Given the description of an element on the screen output the (x, y) to click on. 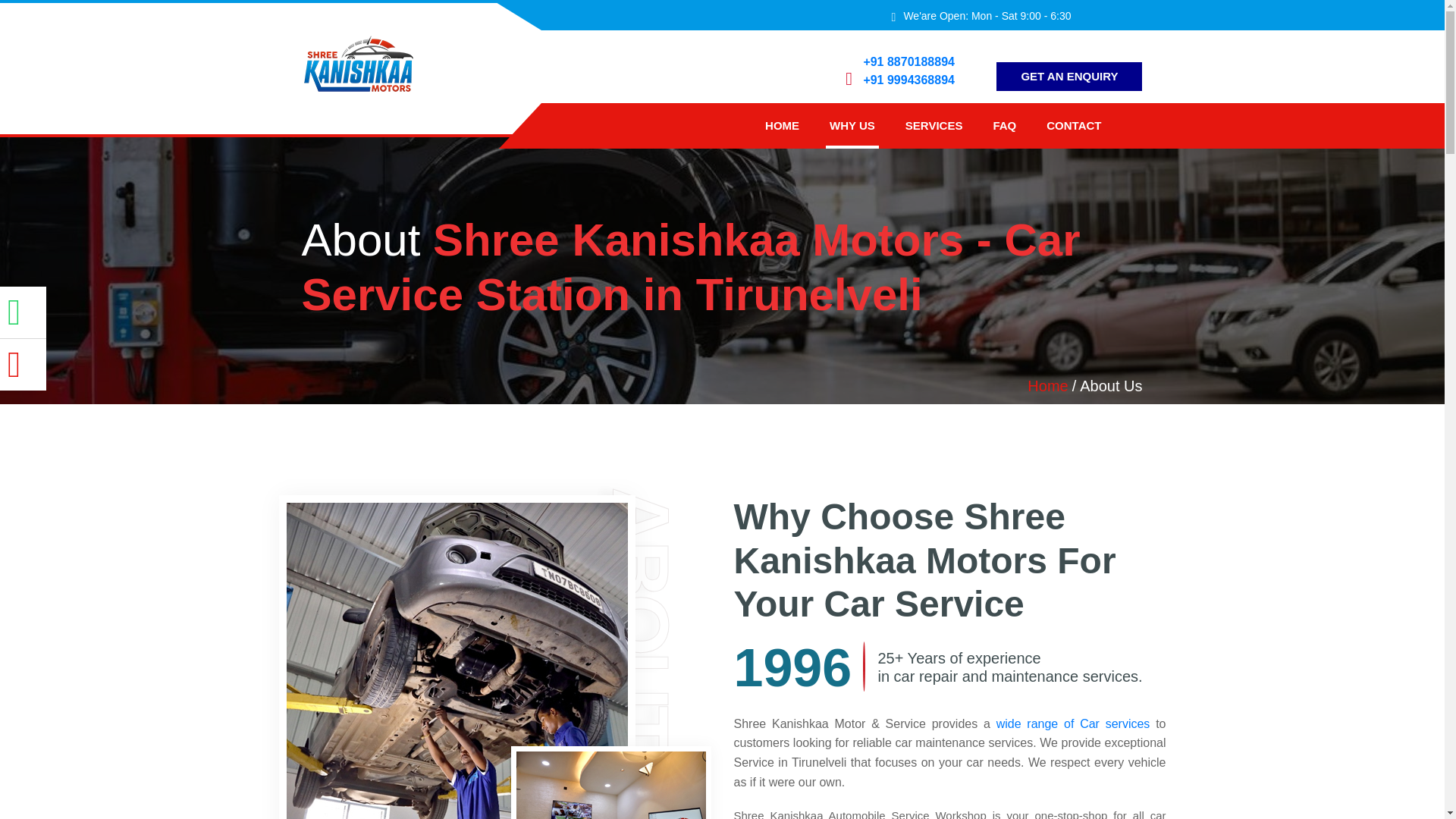
Home (1047, 385)
Book An Appoinment - Shree Kanishkaa Motors (1068, 76)
Call to Shree Kanishkaa Motors (909, 61)
WHY US (852, 126)
SERVICES (933, 126)
Car Repair Services (933, 126)
HOME (782, 126)
Home page (782, 126)
CONTACT (1073, 126)
About Shree Kanishkaa Motors (852, 126)
wide range of Car services (1072, 723)
Call to Shree Kanishkaa Motors (909, 79)
Home Page (1047, 385)
GET AN ENQUIRY (1068, 76)
Contact Car Service Station (1073, 126)
